Given the description of an element on the screen output the (x, y) to click on. 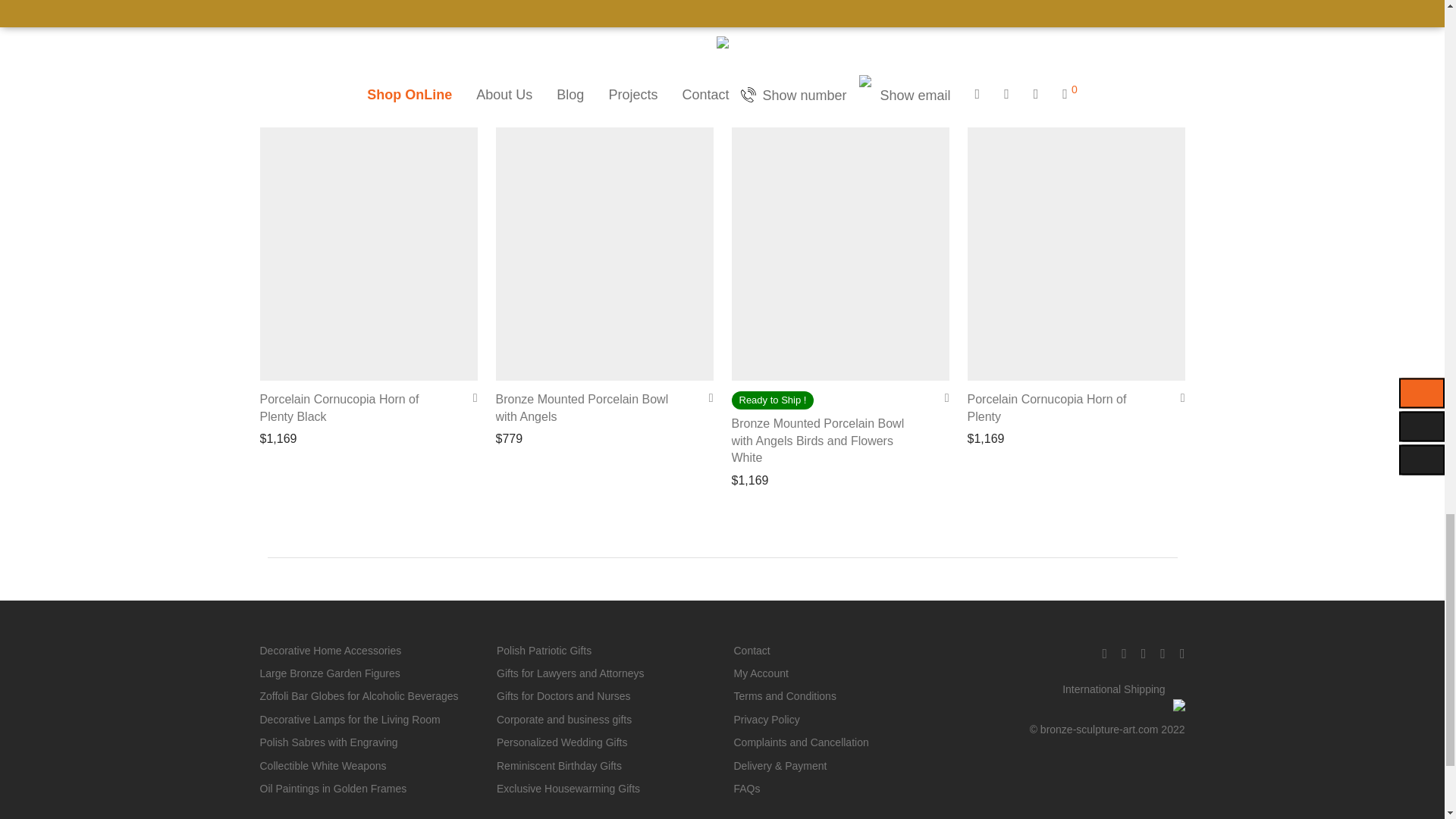
Add to Wishlist (941, 397)
Add to Wishlist (705, 397)
Add to Wishlist (1177, 397)
Add to Wishlist (470, 397)
